Given the description of an element on the screen output the (x, y) to click on. 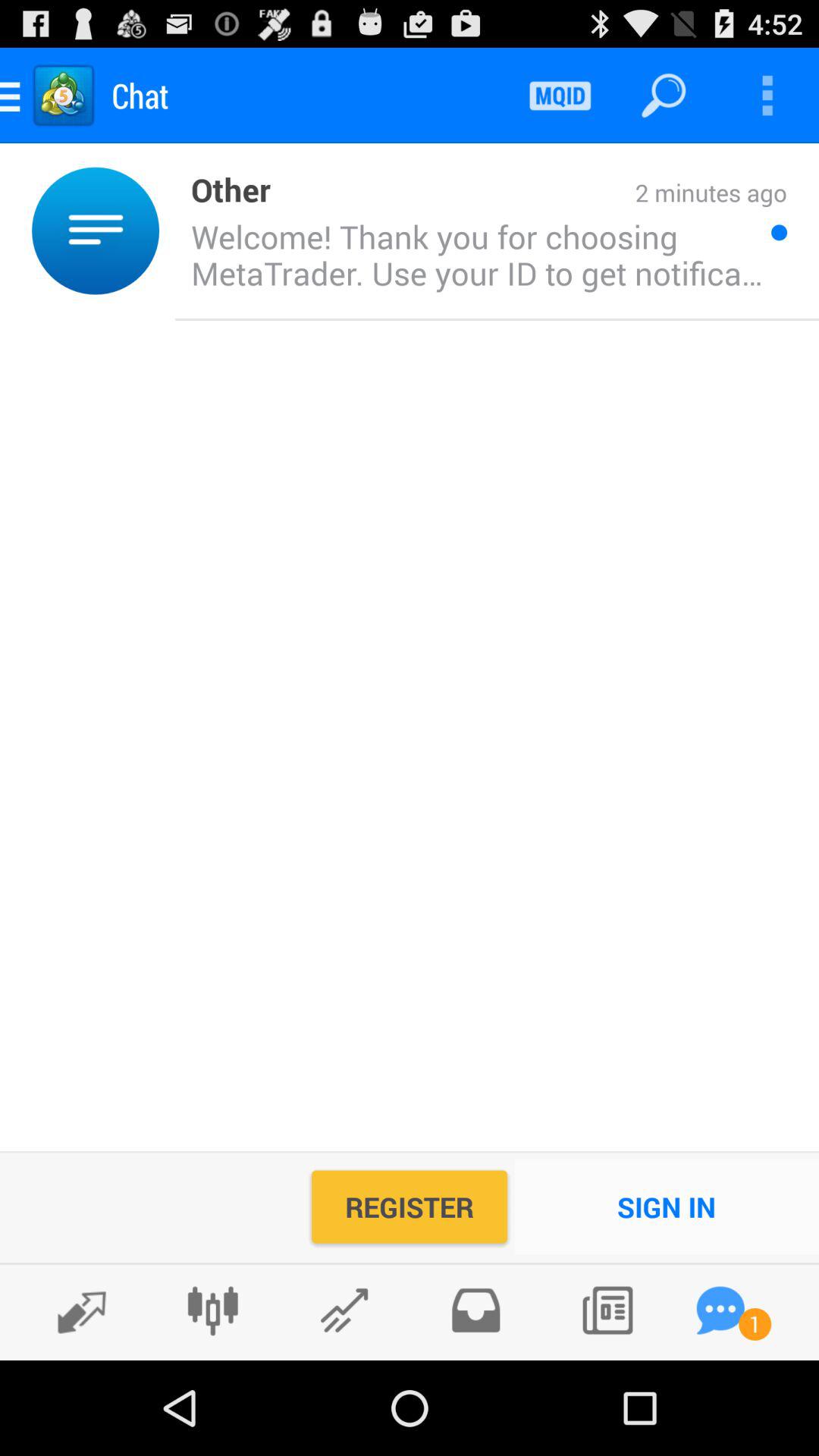
for current technical indicator (344, 1310)
